Given the description of an element on the screen output the (x, y) to click on. 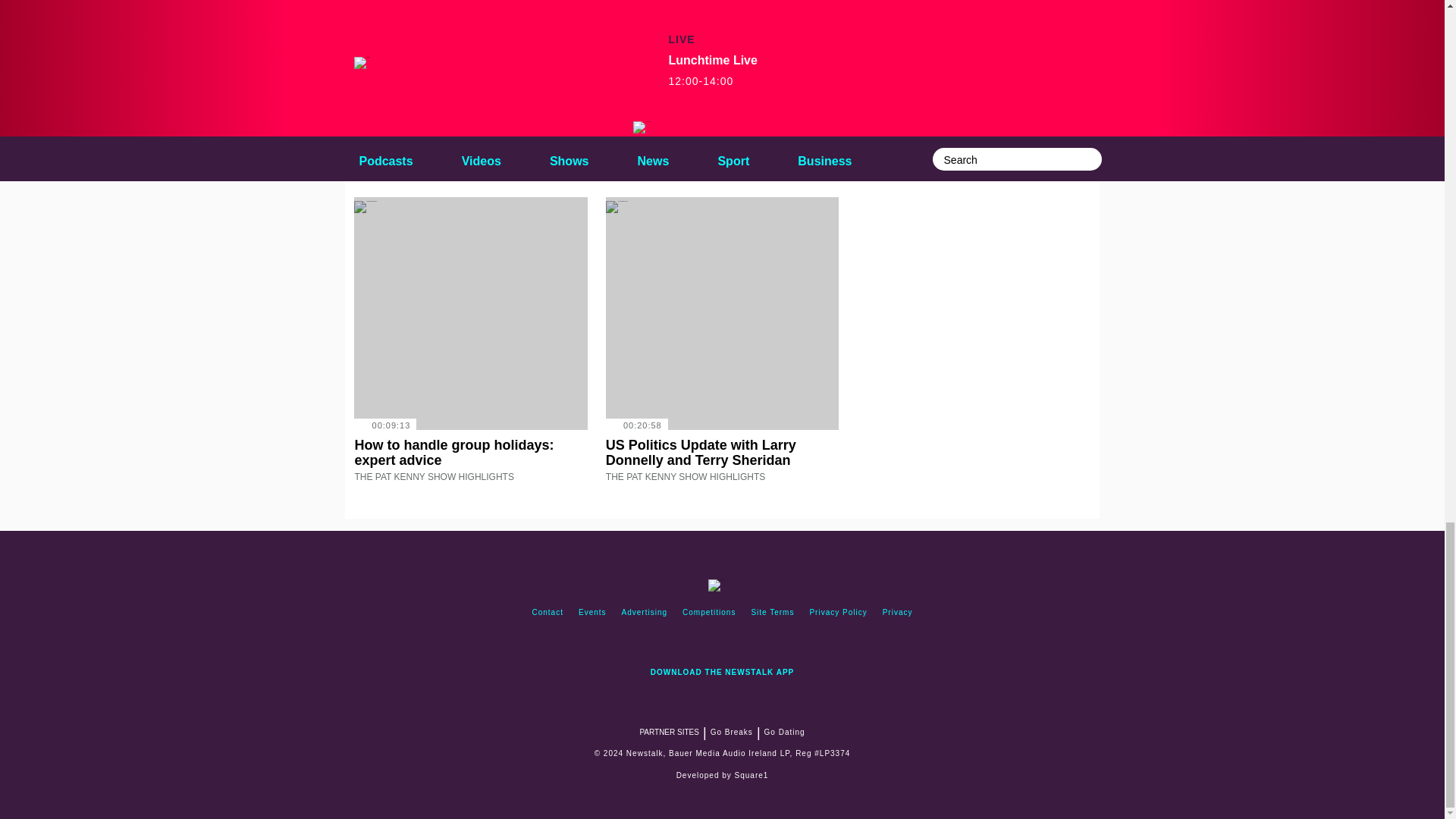
advertising (644, 612)
site terms (772, 612)
Privacy (897, 612)
competitions (708, 612)
Privacy Policy (838, 612)
contact (547, 612)
events (592, 612)
